Given the description of an element on the screen output the (x, y) to click on. 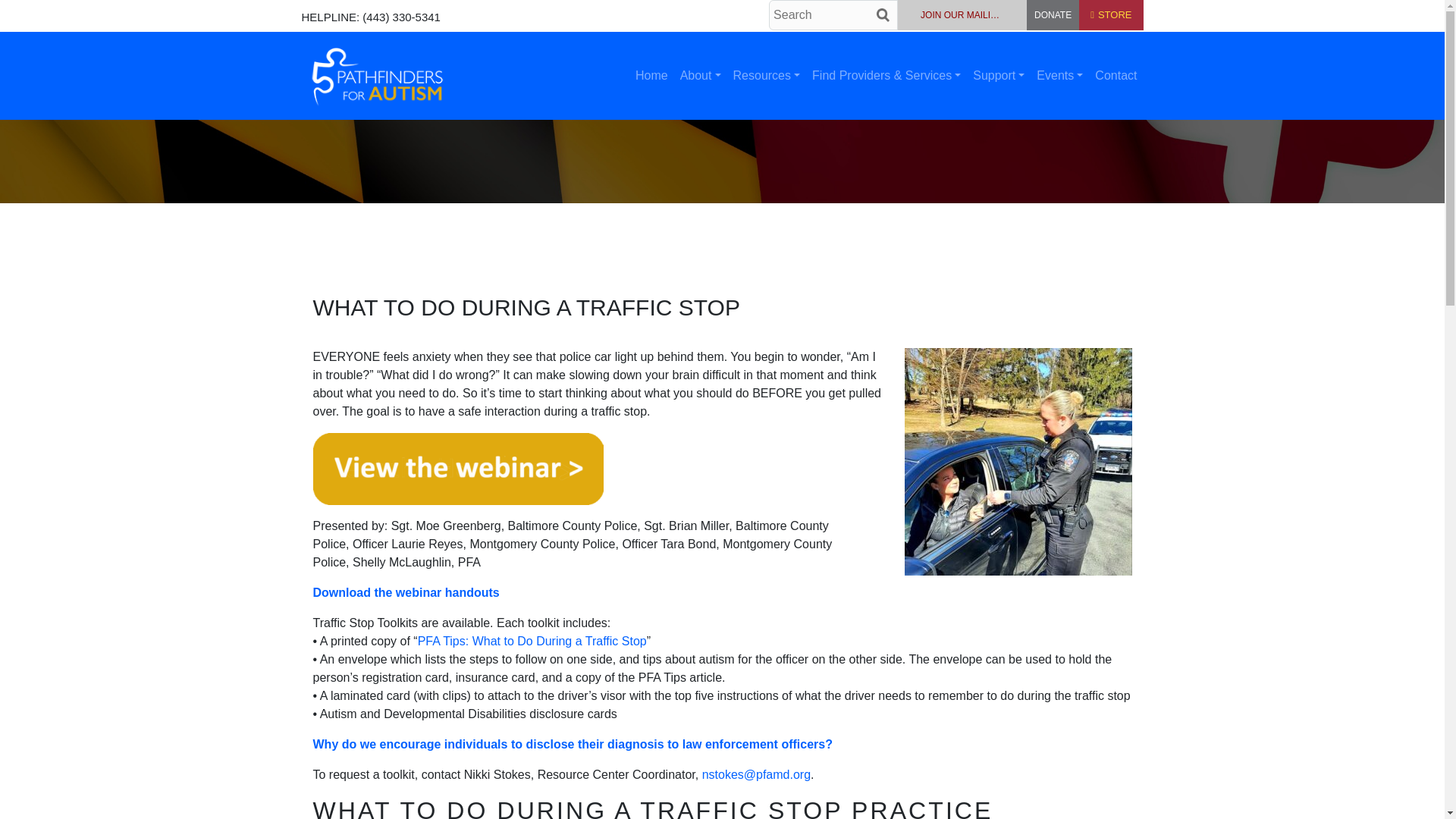
About (700, 75)
Home (651, 75)
Search for: (833, 15)
About (700, 75)
STORE (1110, 15)
Home (651, 75)
DONATE (1052, 15)
JOIN OUR MAILING LIST (962, 15)
Resources (766, 75)
Resources (766, 75)
